Given the description of an element on the screen output the (x, y) to click on. 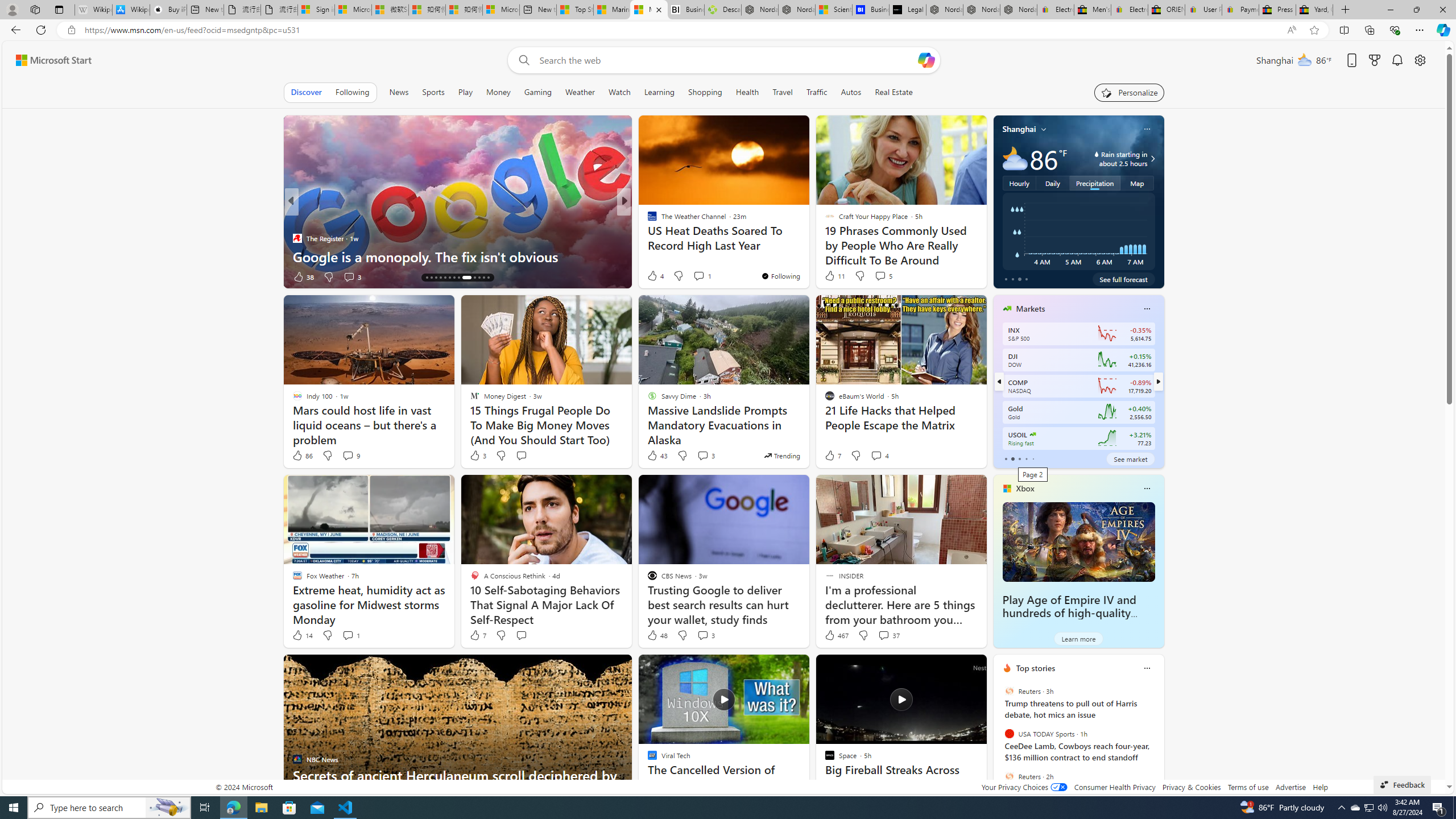
tab-4 (1032, 458)
View comments 4 Comment (879, 455)
AutomationID: tab-21 (458, 277)
tab-0 (1005, 458)
View comments 37 Comment (883, 635)
AutomationID: tab-16 (435, 277)
